Given the description of an element on the screen output the (x, y) to click on. 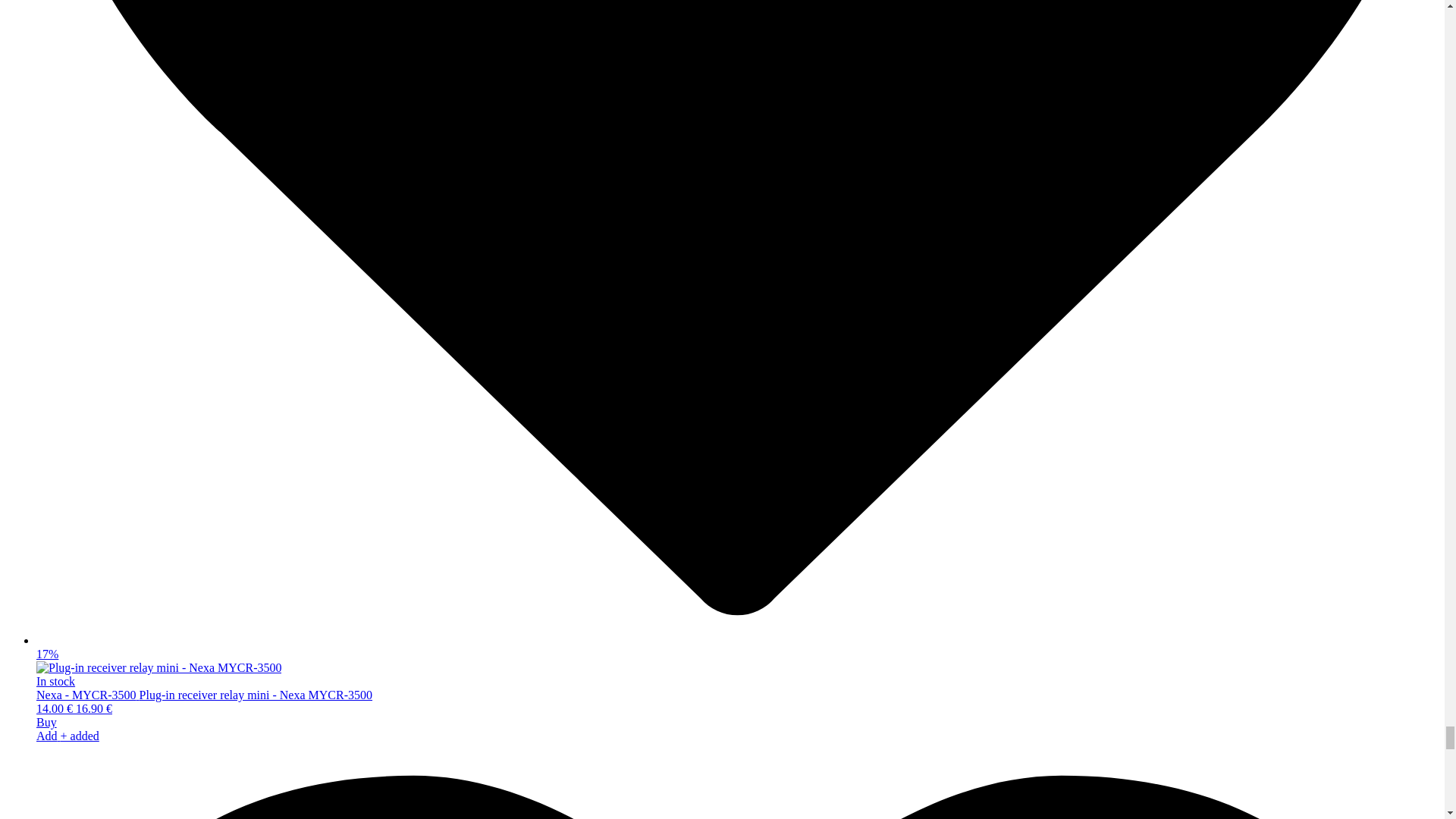
Plug-in receiver relay mini - Nexa MYCR-3500 (158, 667)
